Given the description of an element on the screen output the (x, y) to click on. 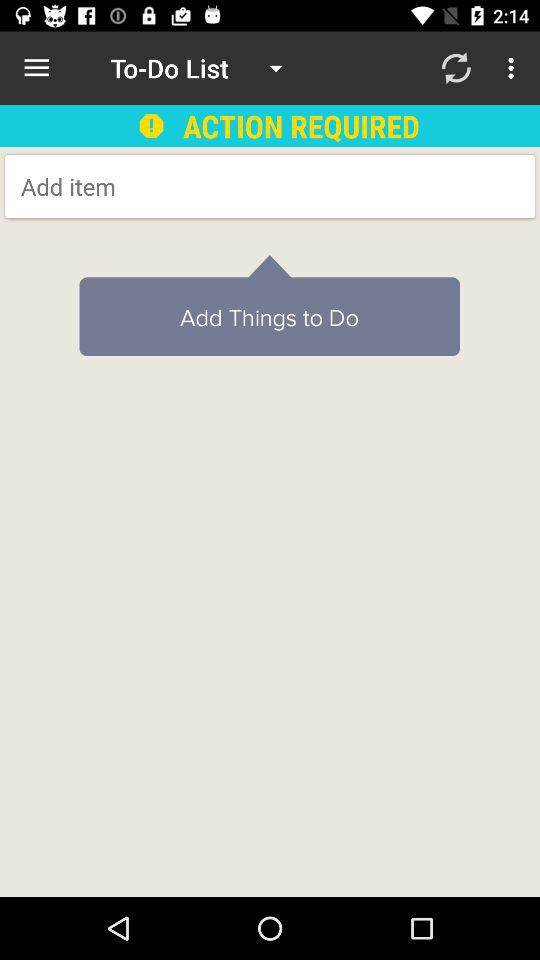
add item (181, 186)
